Given the description of an element on the screen output the (x, y) to click on. 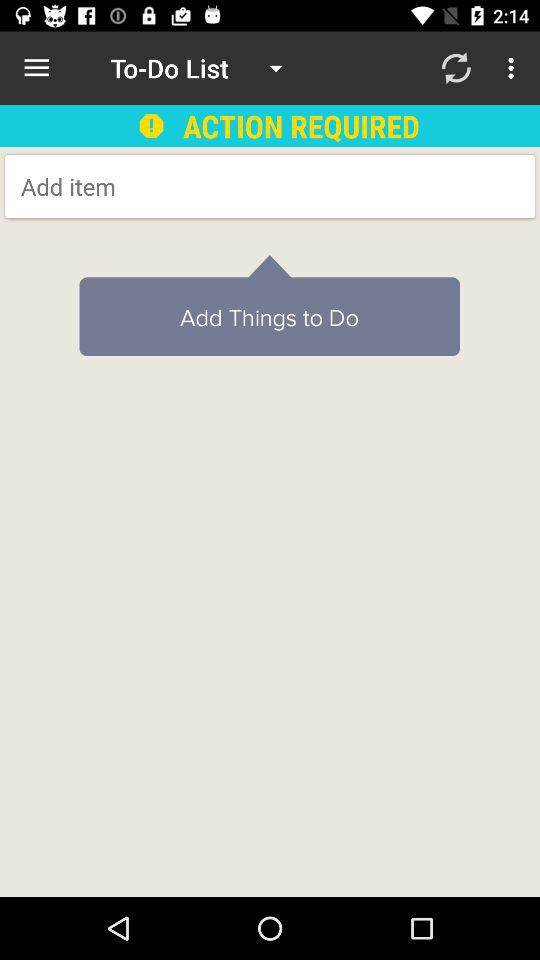
add item (181, 186)
